Given the description of an element on the screen output the (x, y) to click on. 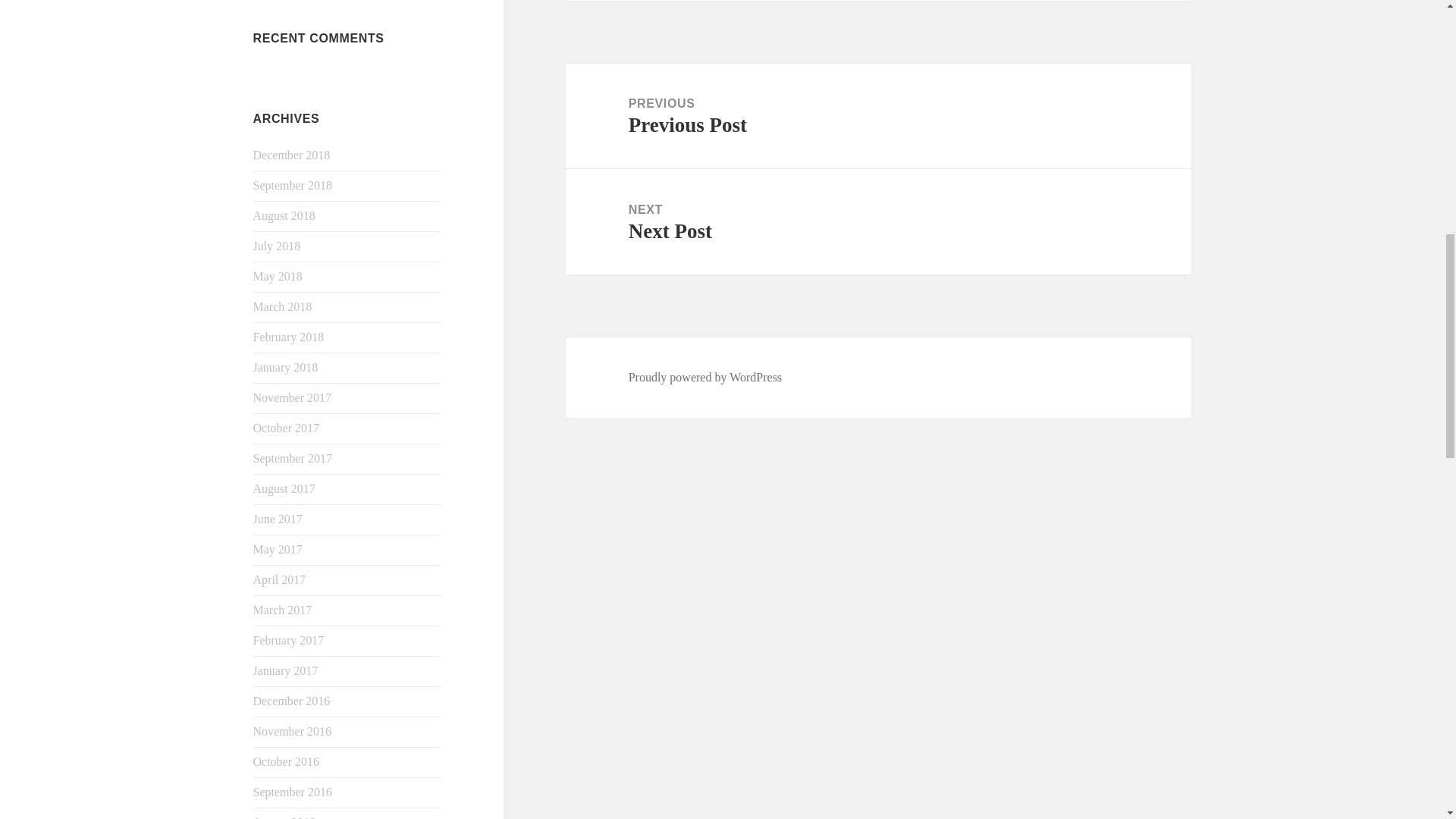
February 2017 (288, 640)
August 2016 (284, 817)
October 2017 (286, 427)
March 2018 (283, 306)
January 2017 (285, 670)
October 2016 (286, 761)
September 2017 (292, 458)
May 2017 (277, 549)
December 2018 (291, 154)
August 2017 (284, 488)
